Given the description of an element on the screen output the (x, y) to click on. 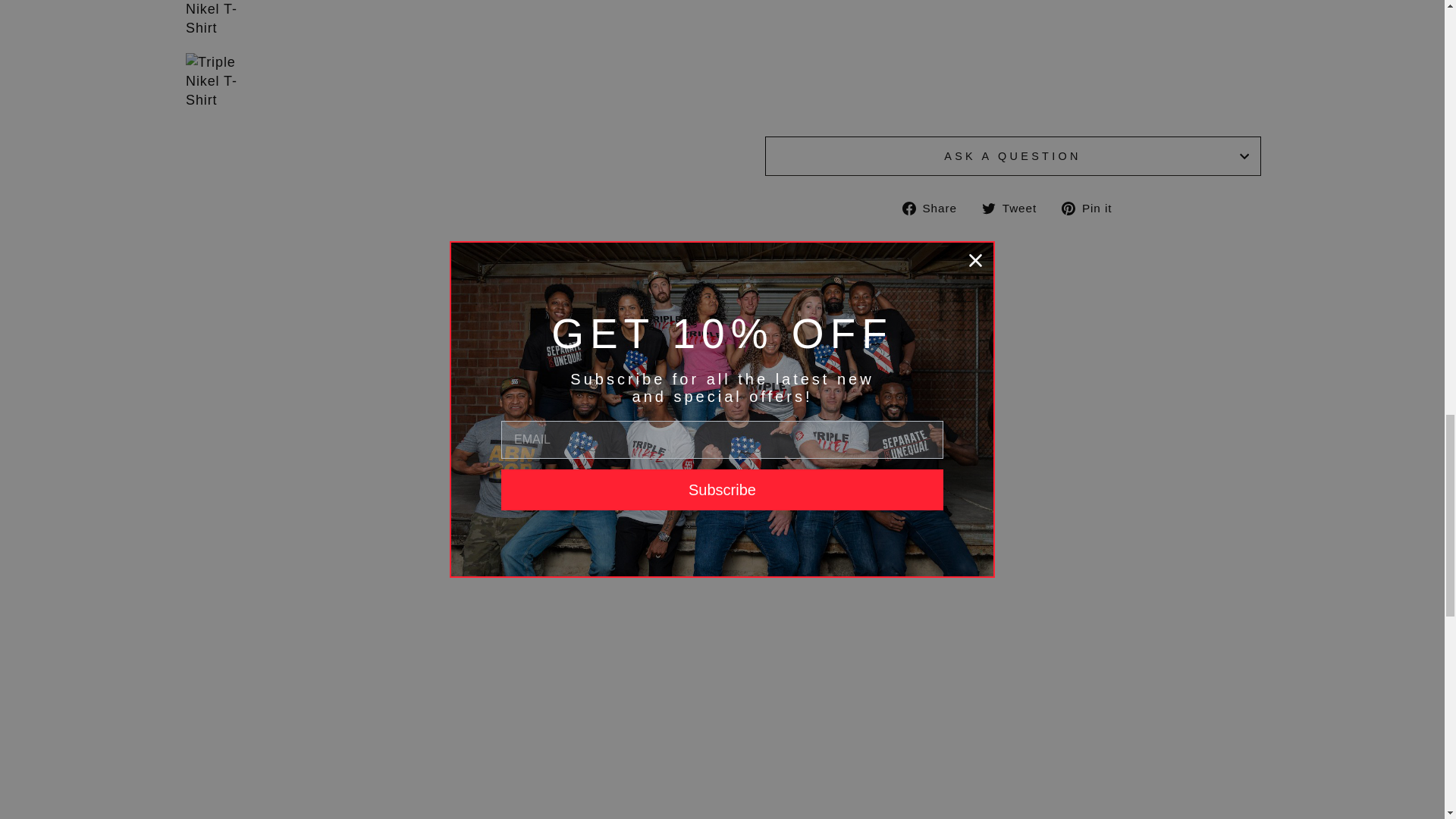
Share on Facebook (935, 208)
Tweet on Twitter (1014, 208)
Pin on Pinterest (1091, 208)
